Given the description of an element on the screen output the (x, y) to click on. 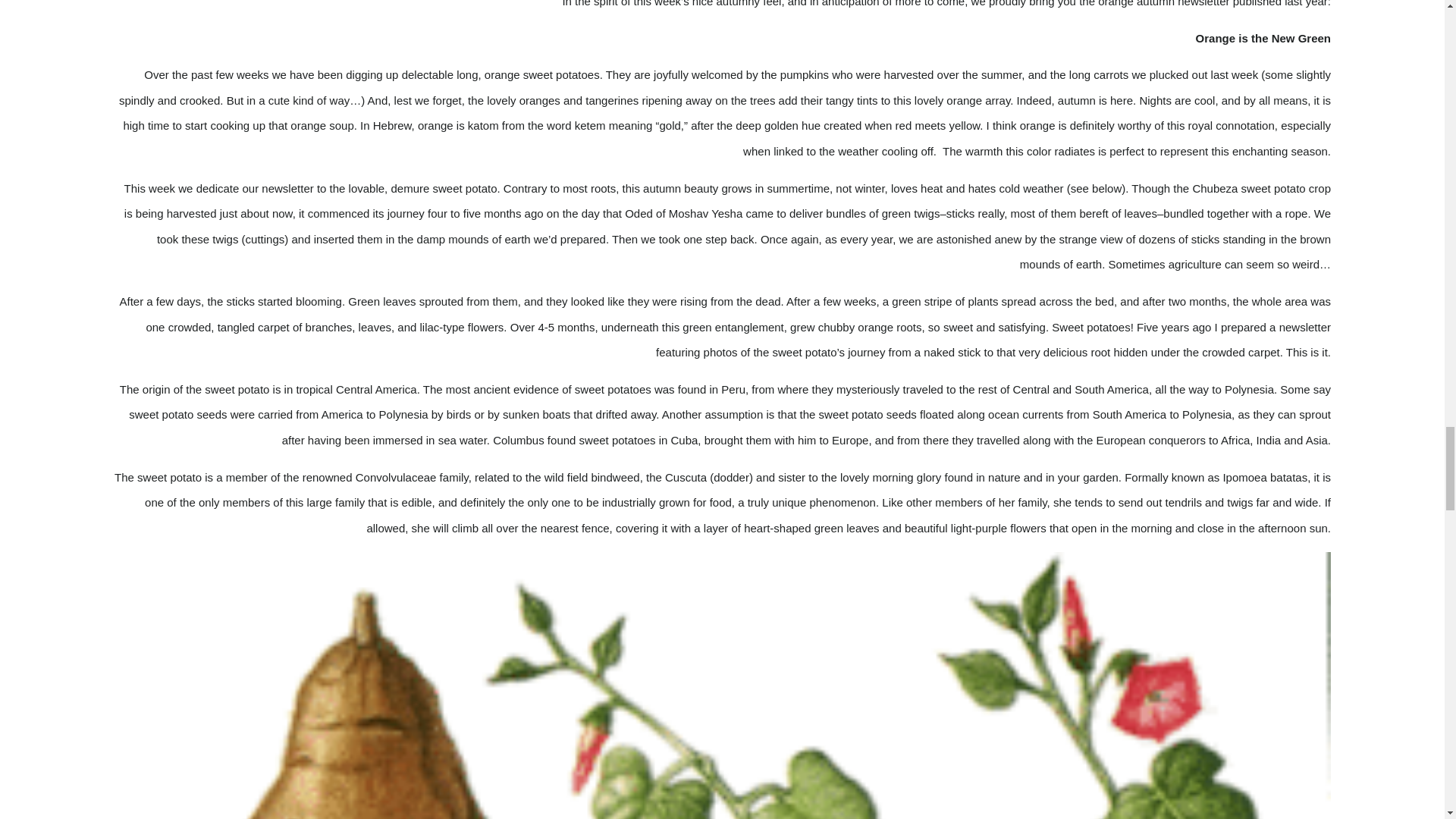
This is it (1306, 351)
